Given the description of an element on the screen output the (x, y) to click on. 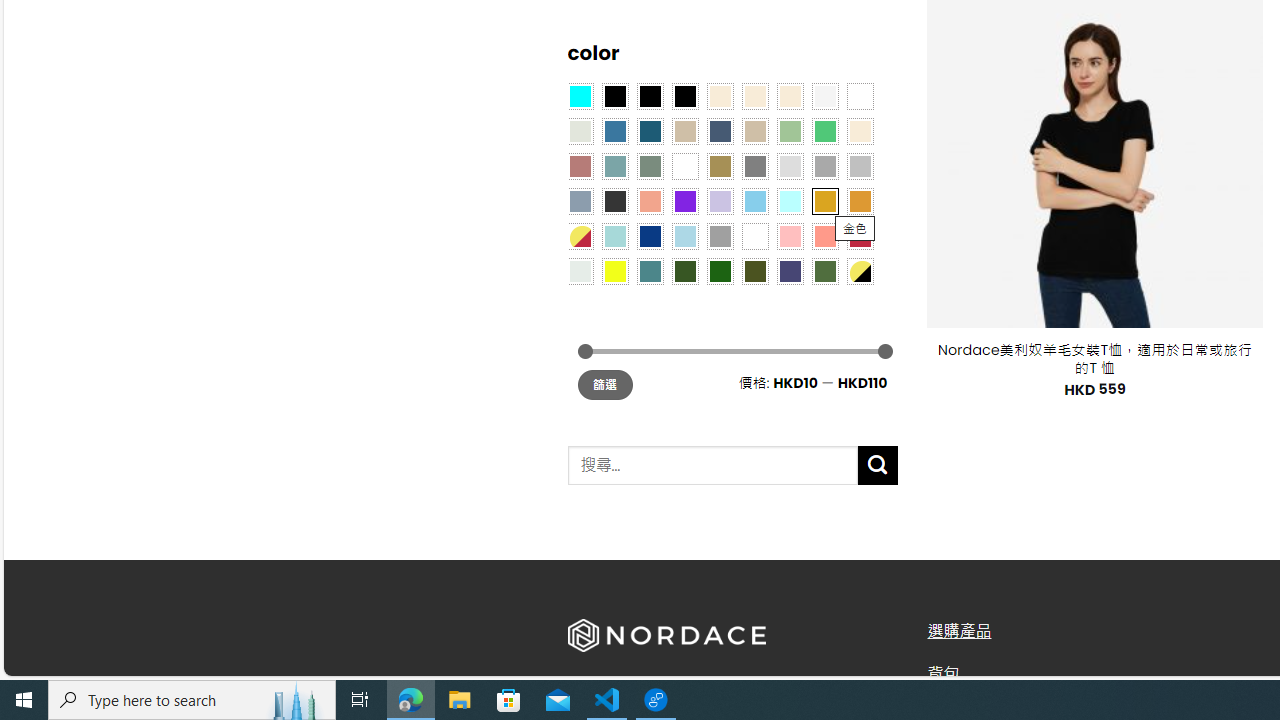
Cream (789, 95)
